Given the description of an element on the screen output the (x, y) to click on. 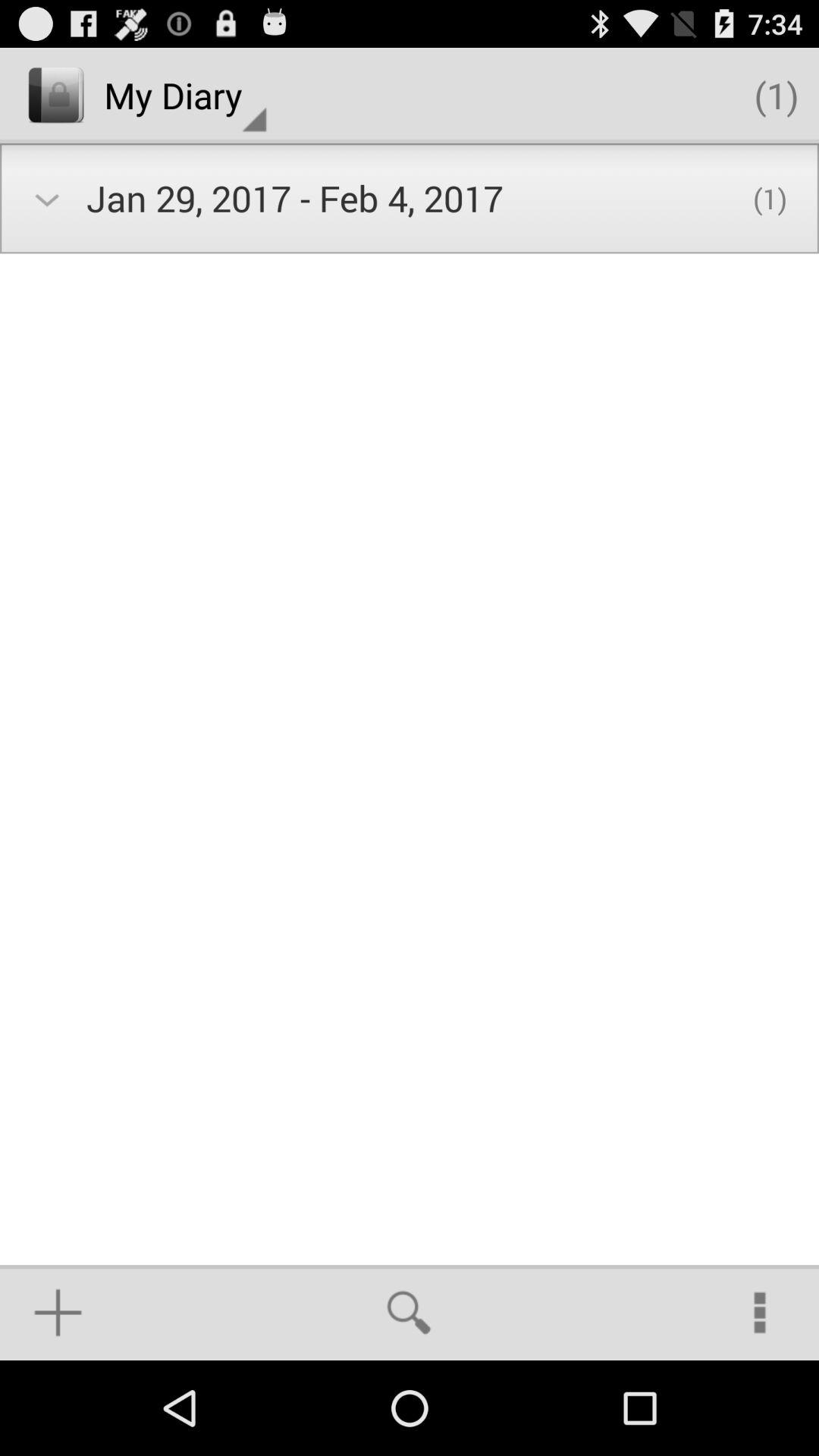
open icon at the bottom left corner (58, 1312)
